Given the description of an element on the screen output the (x, y) to click on. 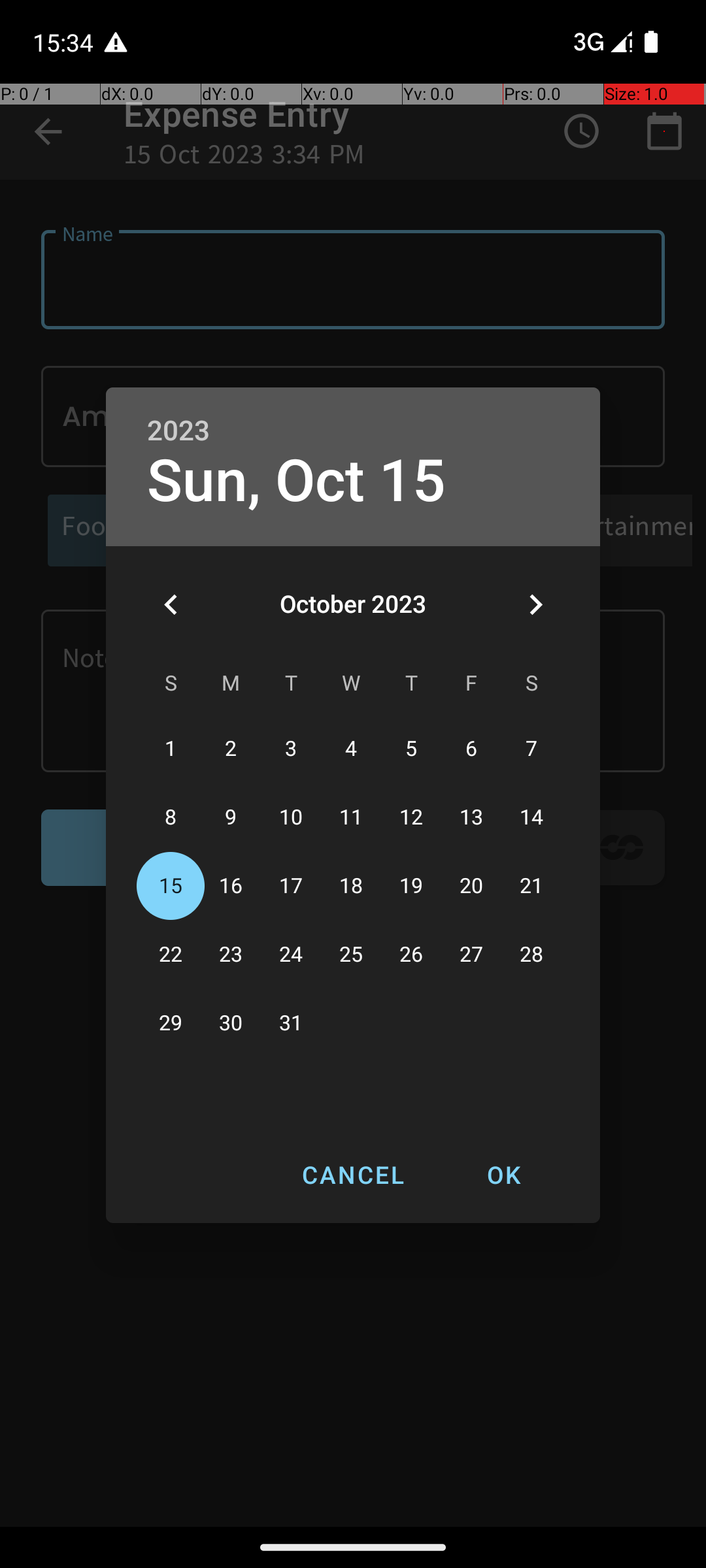
2023 Element type: android.widget.TextView (178, 430)
Previous month Element type: android.widget.ImageButton (170, 604)
Next month Element type: android.widget.ImageButton (535, 604)
24 Element type: android.view.View (290, 954)
26 Element type: android.view.View (411, 954)
27 Element type: android.view.View (471, 954)
28 Element type: android.view.View (531, 954)
29 Element type: android.view.View (170, 1023)
31 Element type: android.view.View (290, 1023)
